Given the description of an element on the screen output the (x, y) to click on. 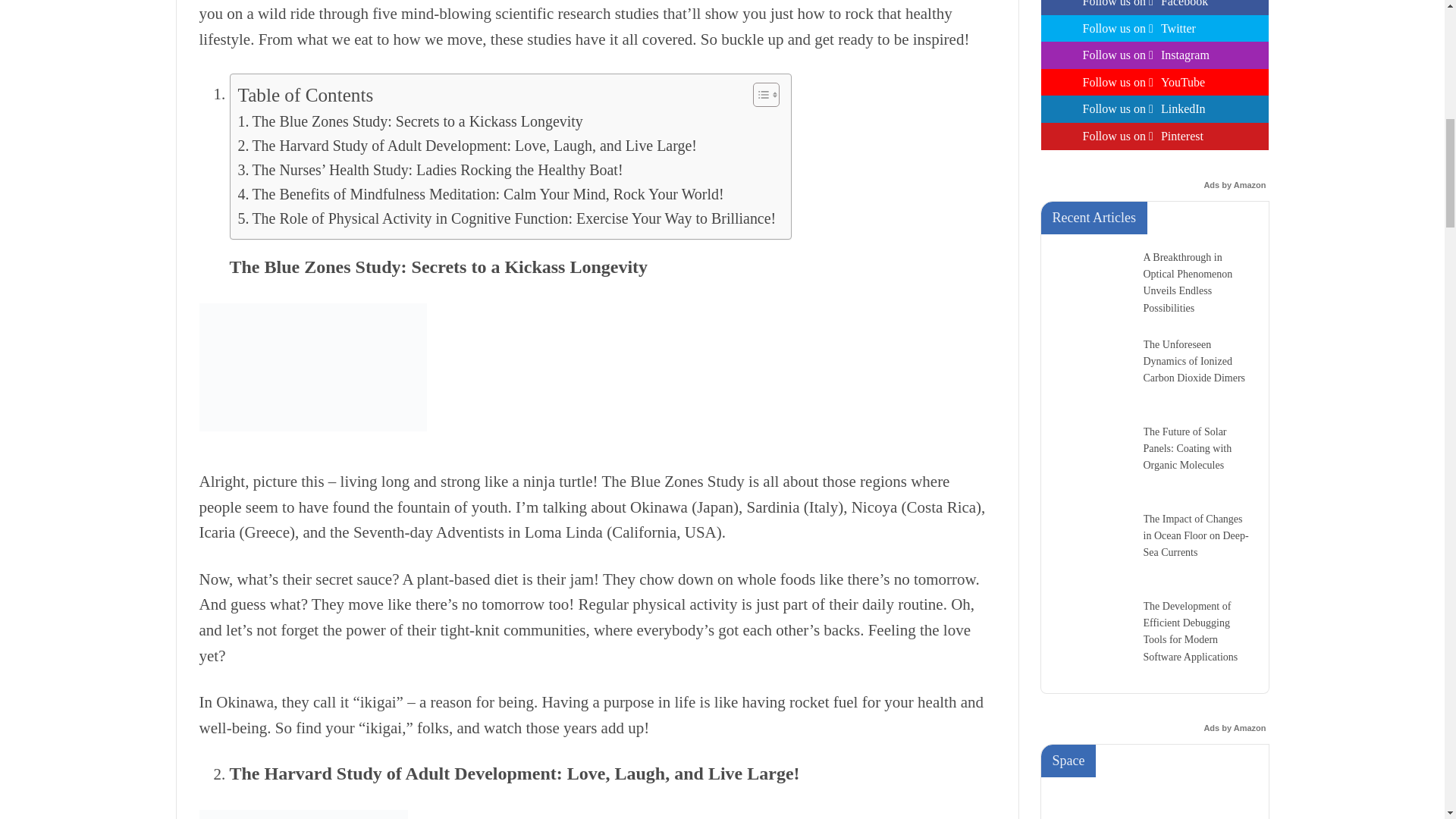
The Blue Zones Study: Secrets to a Kickass Longevity (410, 121)
